Given the description of an element on the screen output the (x, y) to click on. 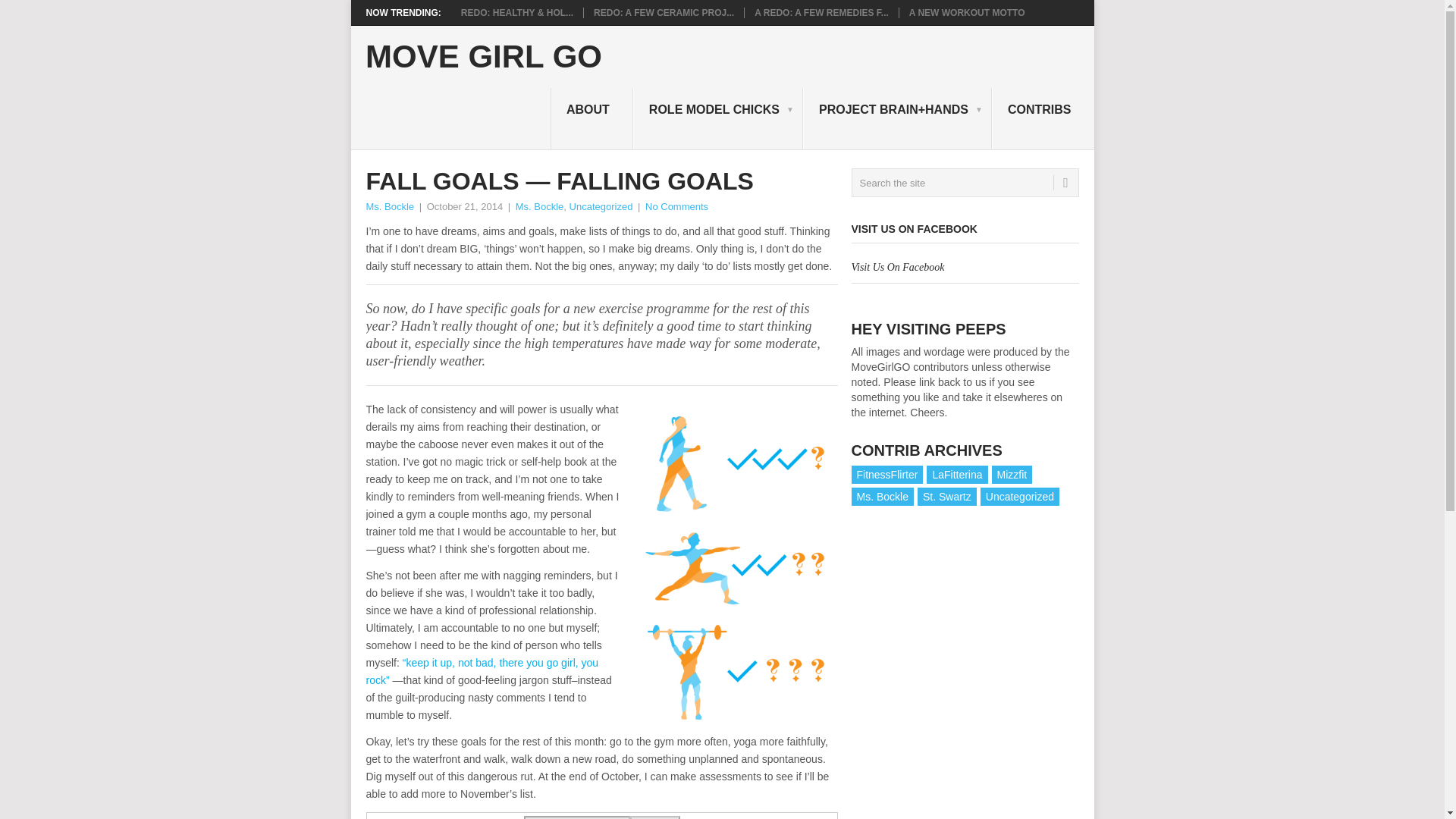
Ms. Bockle (389, 206)
ABOUT (591, 118)
St. Swartz (946, 496)
CONTRIBS (1042, 118)
A Redo: A Few Remedies for Bad Days (821, 12)
A REDO: A FEW REMEDIES F... (821, 12)
ROLE MODEL CHICKS (718, 118)
Uncategorized (601, 206)
Redo: A Few Ceramic Projects (663, 12)
FeedBurner (772, 818)
FitnessFlirter (886, 475)
VISIT US ON FACEBOOK (913, 228)
Subscribe (653, 817)
Ms. Bockle (881, 496)
Posts by Ms. Bockle (389, 206)
